Given the description of an element on the screen output the (x, y) to click on. 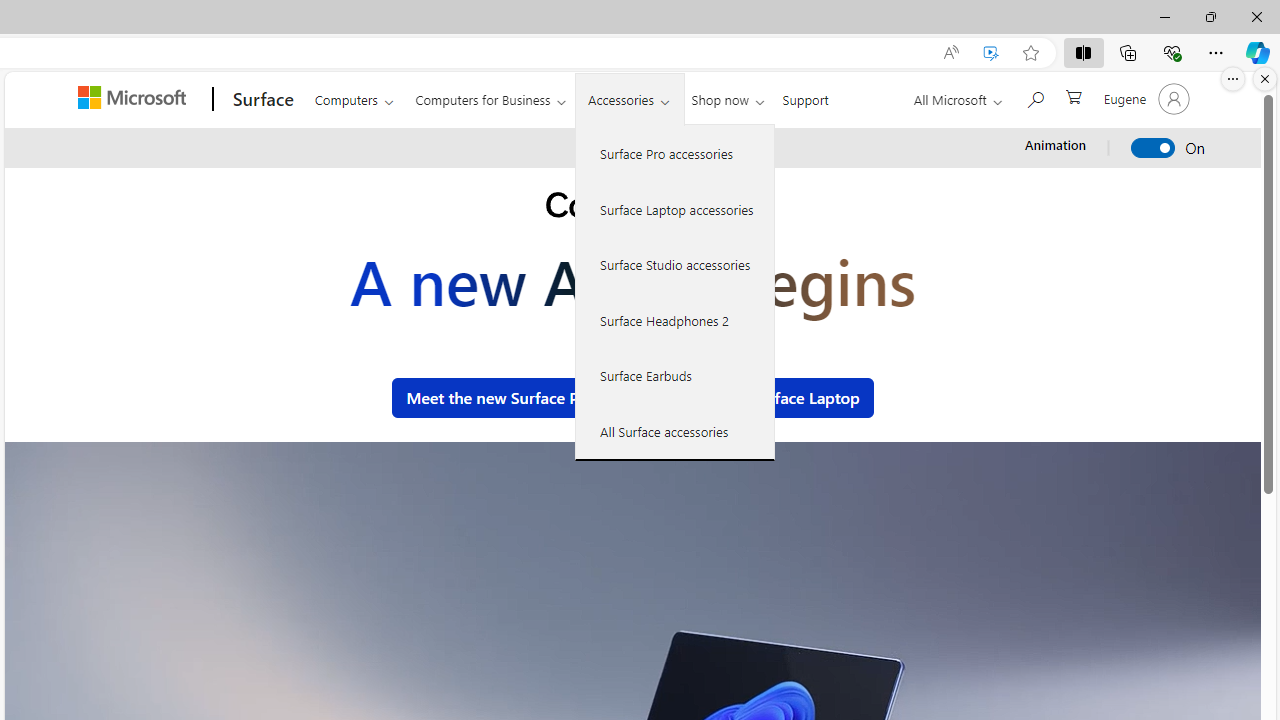
Support (805, 96)
Surface Laptop accessories (675, 208)
Meet the new Surface Pro (499, 397)
Surface (260, 99)
More options. (1233, 79)
Surface Laptop accessories (675, 208)
Surface Earbuds (675, 375)
